Given the description of an element on the screen output the (x, y) to click on. 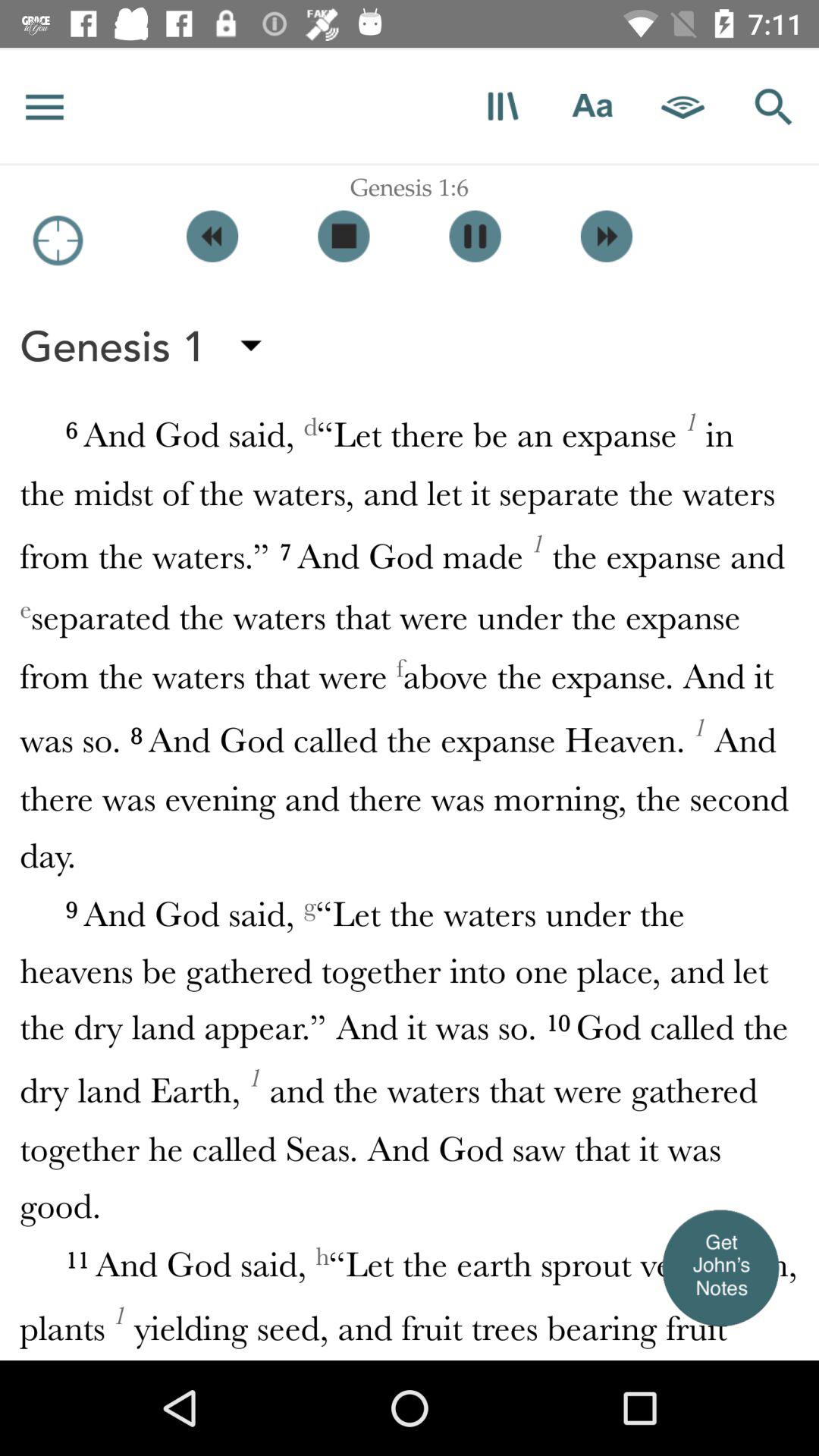
open up author 's notes (720, 1267)
